Given the description of an element on the screen output the (x, y) to click on. 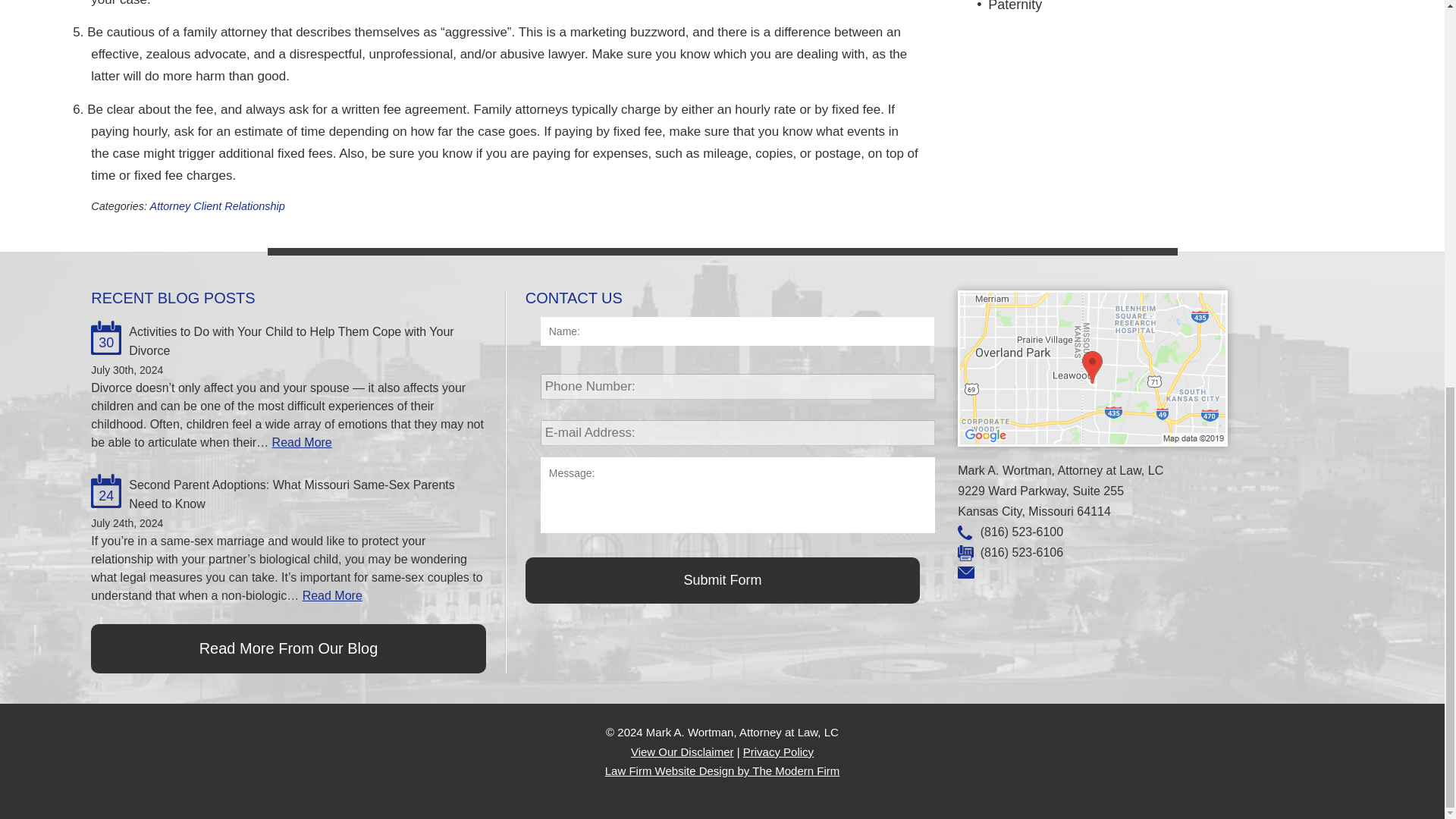
Read more about Paternity (1015, 6)
View Our Disclaimer (681, 751)
Paternity (1015, 6)
Submit Form (722, 580)
Read More (332, 594)
Submit Form (722, 580)
Read More (301, 441)
Click for more Attorney Client Relationship information (217, 205)
